Given the description of an element on the screen output the (x, y) to click on. 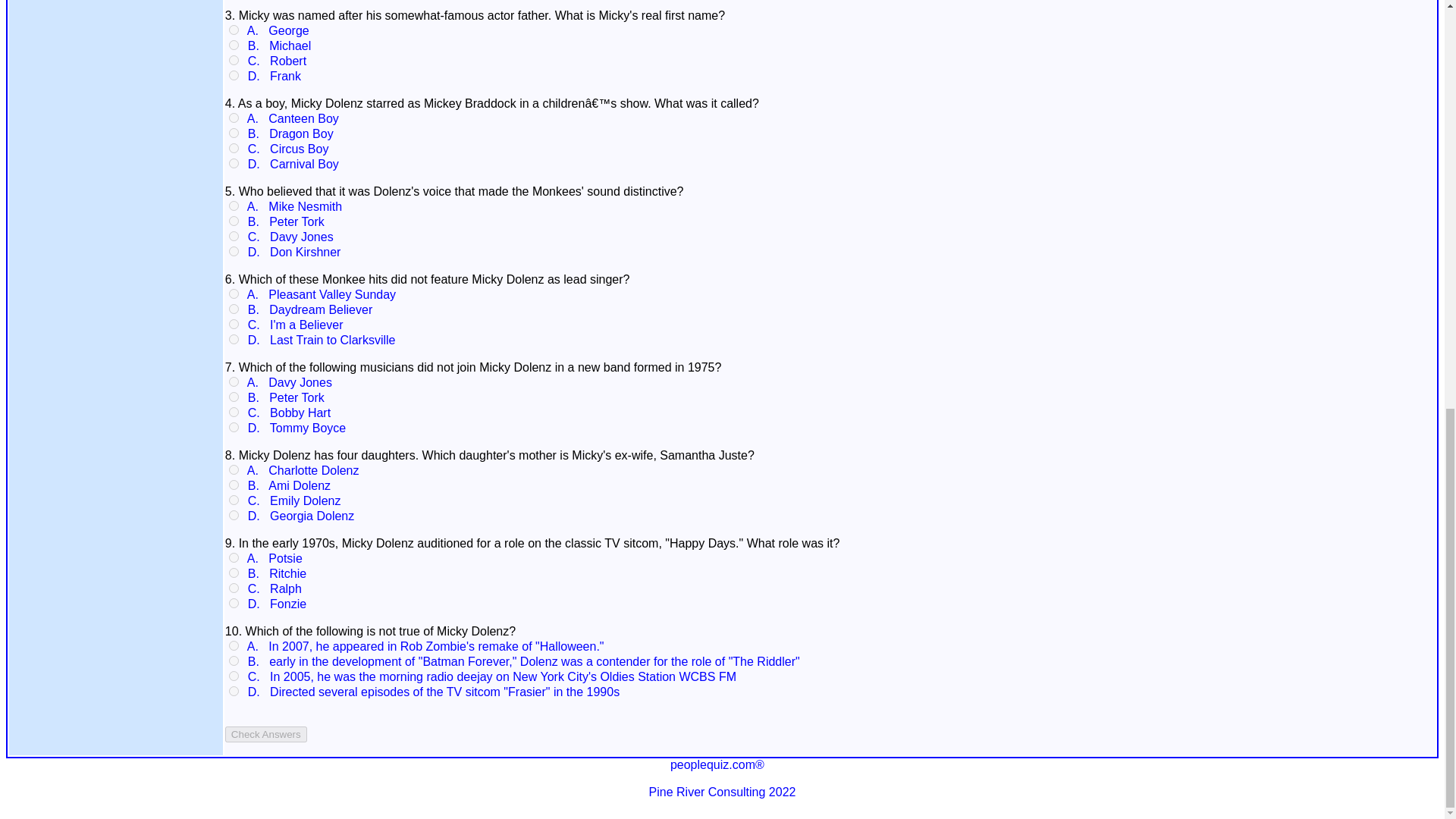
  C.   Robert (273, 60)
  A.   George (274, 30)
C (233, 60)
  B.   Michael (276, 45)
A (233, 30)
B (233, 132)
B (233, 221)
C (233, 148)
A (233, 117)
D (233, 251)
